Given the description of an element on the screen output the (x, y) to click on. 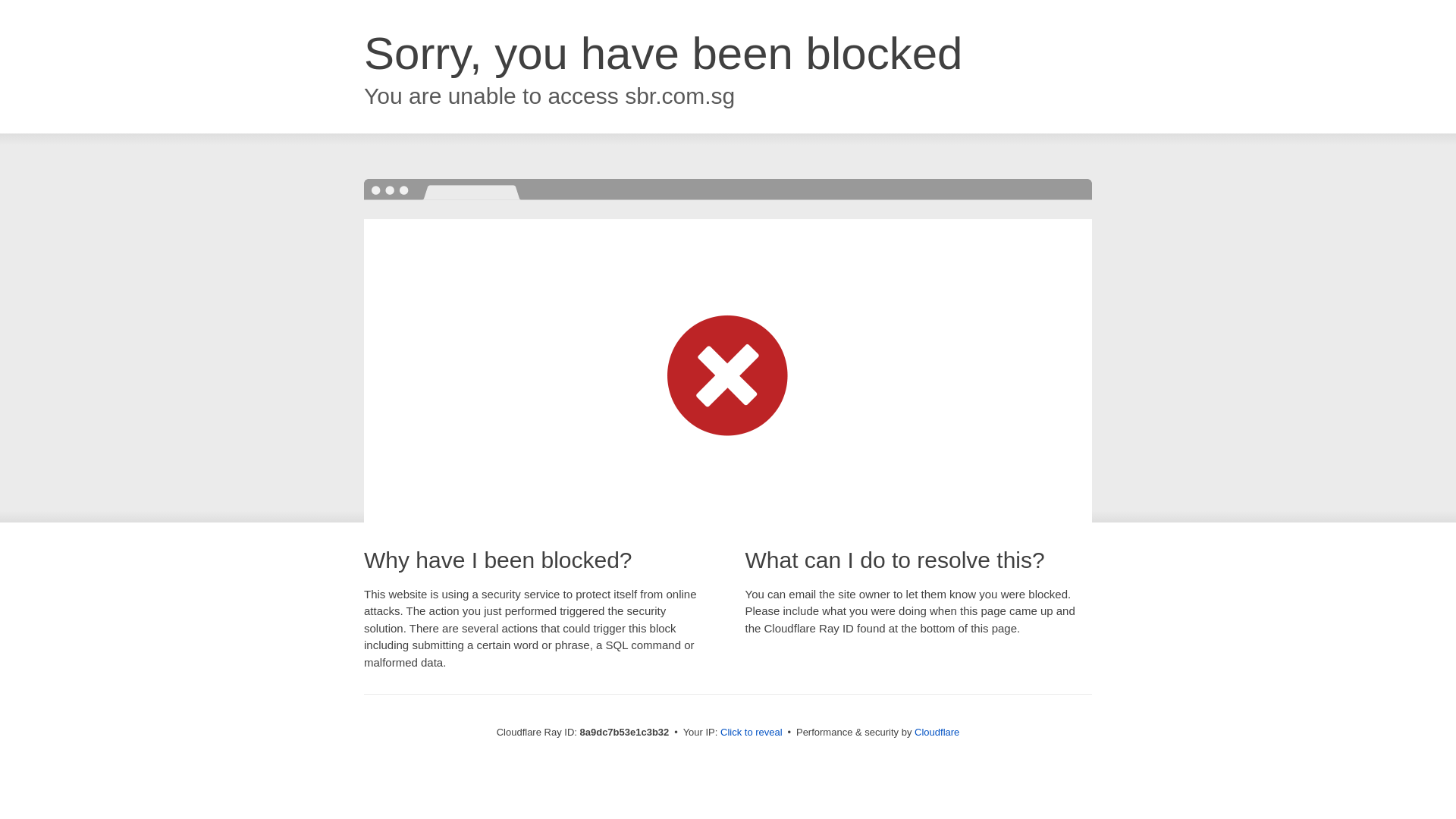
Click to reveal (751, 732)
Cloudflare (936, 731)
